Given the description of an element on the screen output the (x, y) to click on. 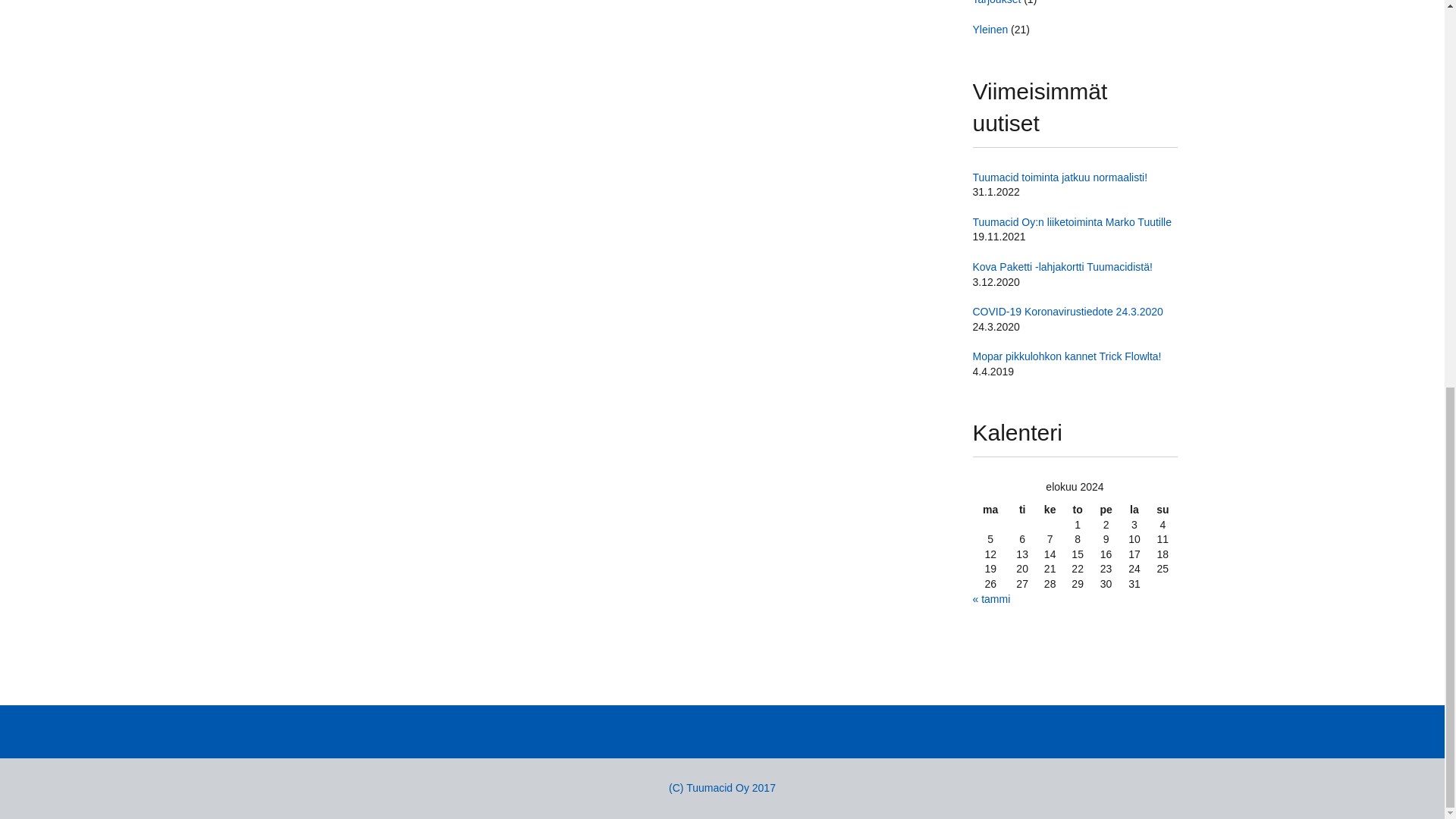
Mopar pikkulohkon kannet Trick Flowlta! (1066, 356)
sunnuntai (1162, 509)
Tuumacid Oy:n liiketoiminta Marko Tuutille (1071, 222)
Tuumacid toiminta jatkuu normaalisti! (1059, 177)
perjantai (1104, 509)
torstai (1078, 509)
COVID-19 Koronavirustiedote 24.3.2020 (1066, 311)
lauantai (1134, 509)
Tarjoukset (996, 2)
Yleinen (989, 29)
